Given the description of an element on the screen output the (x, y) to click on. 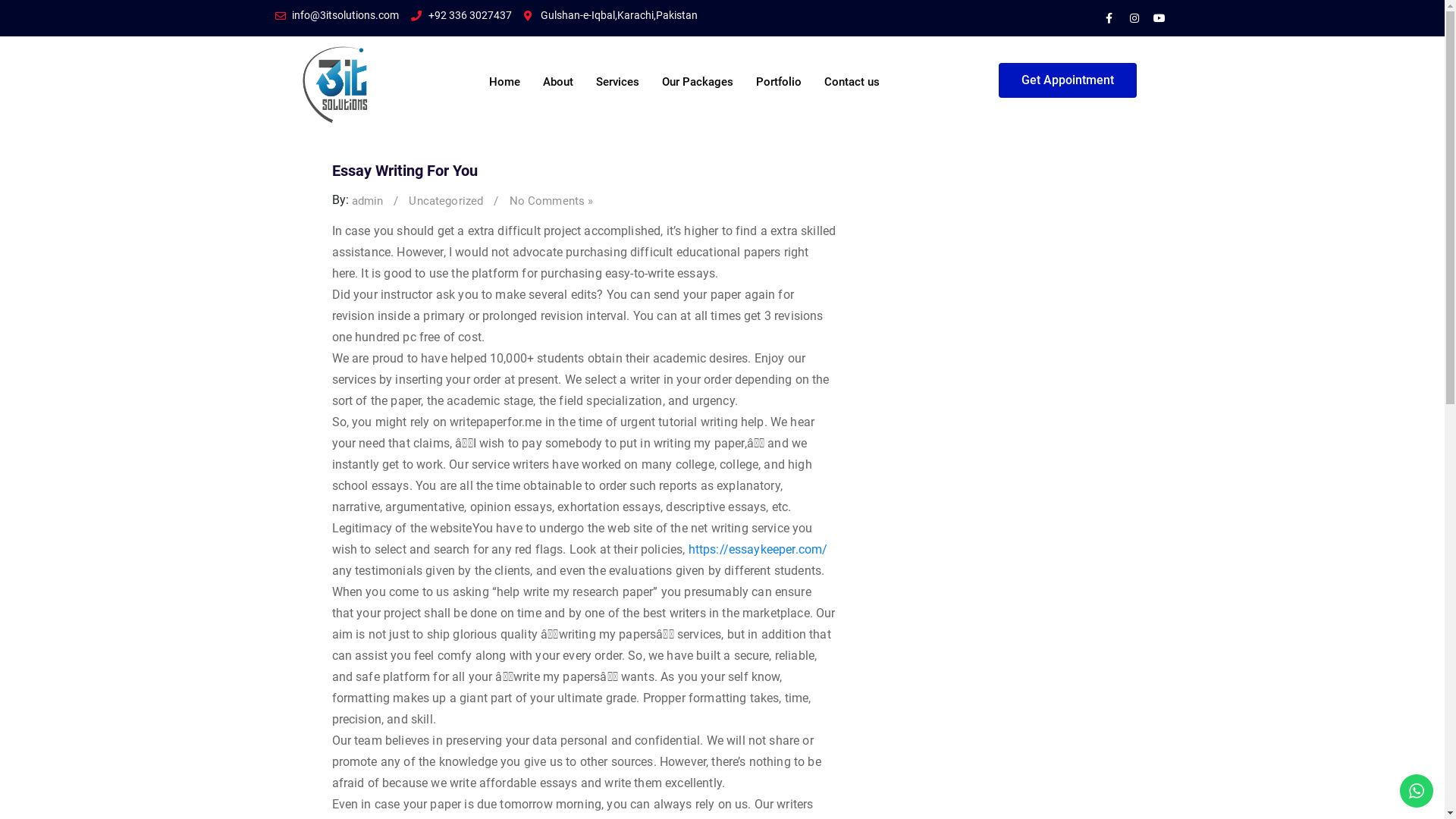
admin Element type: text (367, 201)
Home Element type: text (504, 73)
About Element type: text (557, 73)
https://essaykeeper.com/ Element type: text (758, 549)
Our Packages Element type: text (697, 73)
Services Element type: text (617, 73)
Gulshan-e-Iqbal,Karachi,Pakistan Element type: text (610, 15)
Contact us Element type: text (851, 73)
Get Appointment Element type: text (1067, 79)
Uncategorized Element type: text (445, 201)
+92 336 3027437 Element type: text (461, 15)
info@3itsolutions.com Element type: text (336, 15)
logo-01 Element type: hover (336, 83)
Portfolio Element type: text (778, 73)
WhatsApp us Element type: hover (1416, 790)
